Given the description of an element on the screen output the (x, y) to click on. 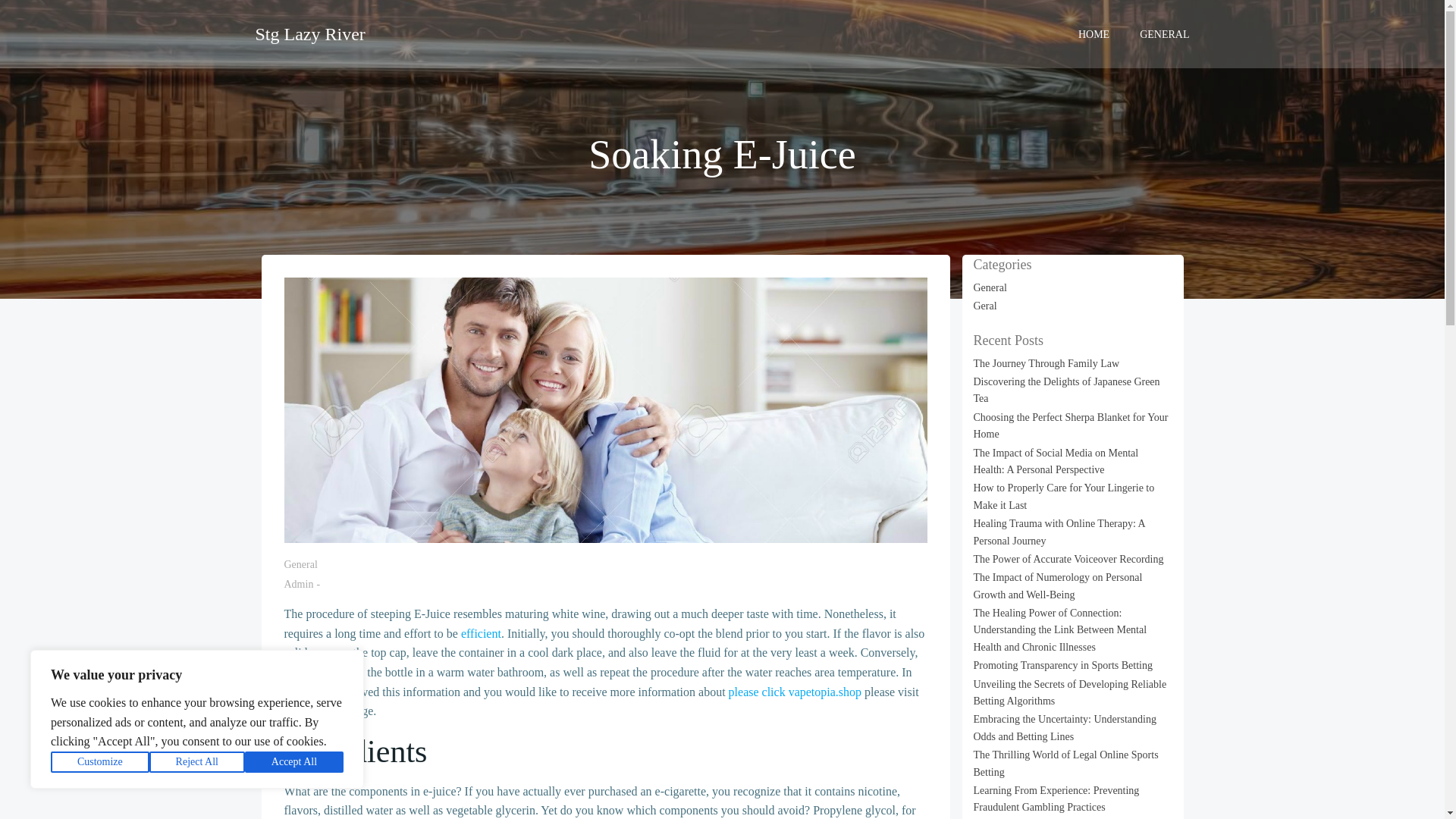
efficient (480, 633)
Admin (298, 584)
HOME (1093, 33)
Reject All (196, 762)
How to Properly Care for Your Lingerie to Make it Last (1064, 496)
Accept All (293, 762)
General (300, 564)
Customize (99, 762)
Healing Trauma with Online Therapy: A Personal Journey (1059, 531)
Stg Lazy River (309, 33)
GENERAL (1164, 33)
The Journey Through Family Law (1046, 363)
please click vapetopia.shop (795, 691)
Choosing the Perfect Sherpa Blanket for Your Home (1071, 425)
General (990, 287)
